Given the description of an element on the screen output the (x, y) to click on. 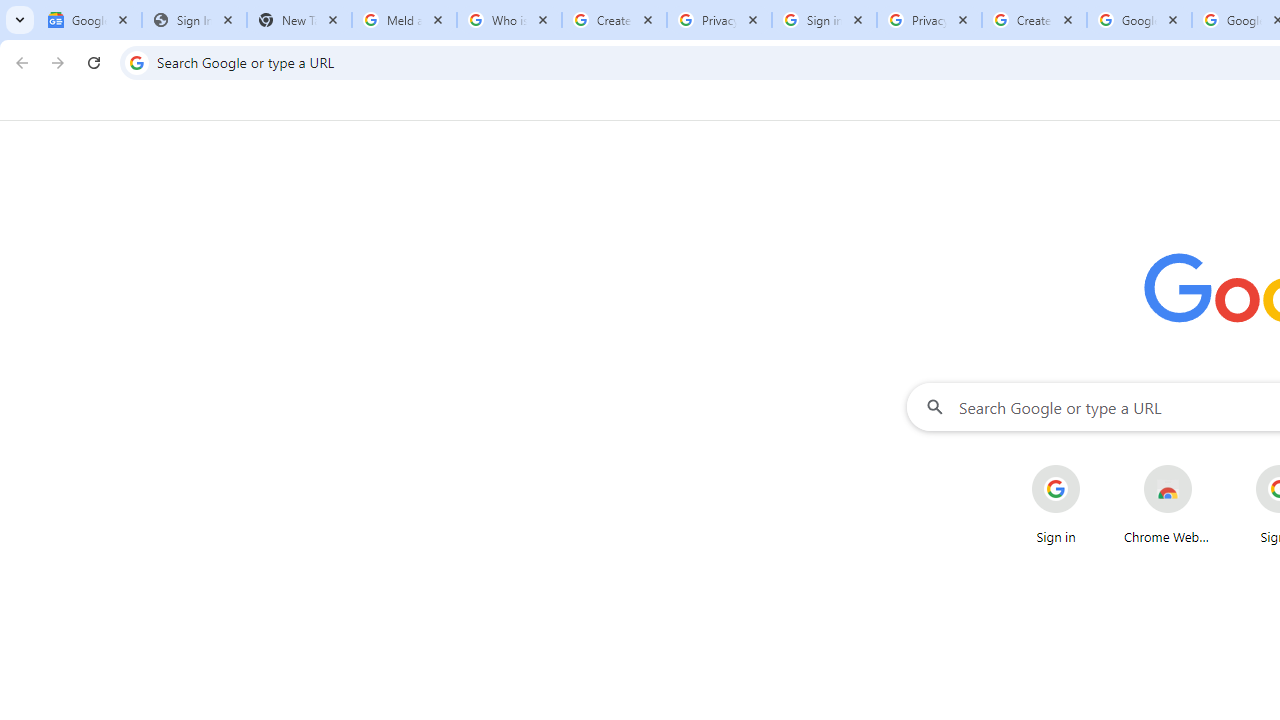
Create your Google Account (1033, 20)
More actions for Sign in shortcut (1095, 466)
Who is my administrator? - Google Account Help (509, 20)
New Tab (299, 20)
